Given the description of an element on the screen output the (x, y) to click on. 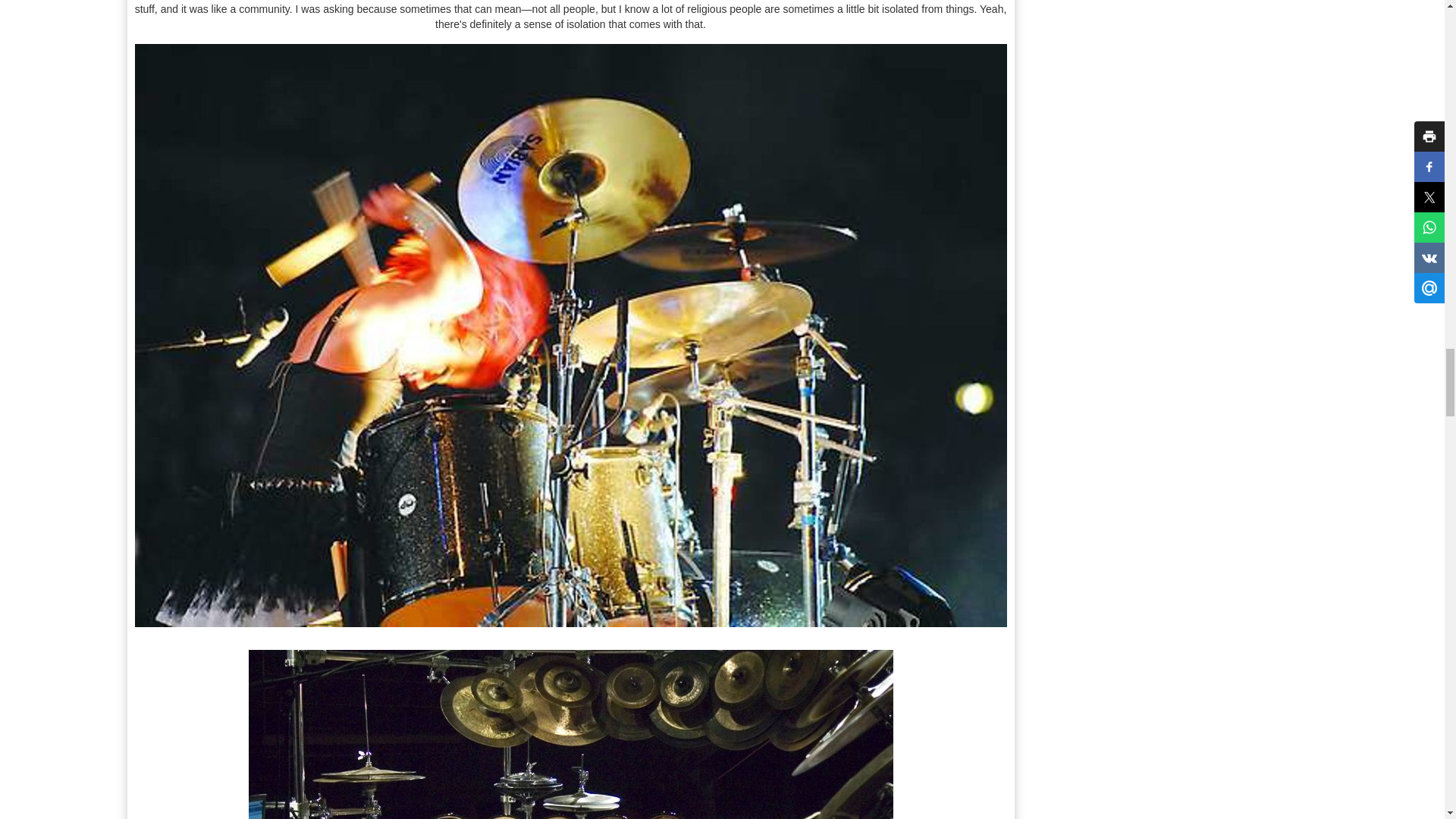
Woman ready to fuck in livorno (570, 734)
